Given the description of an element on the screen output the (x, y) to click on. 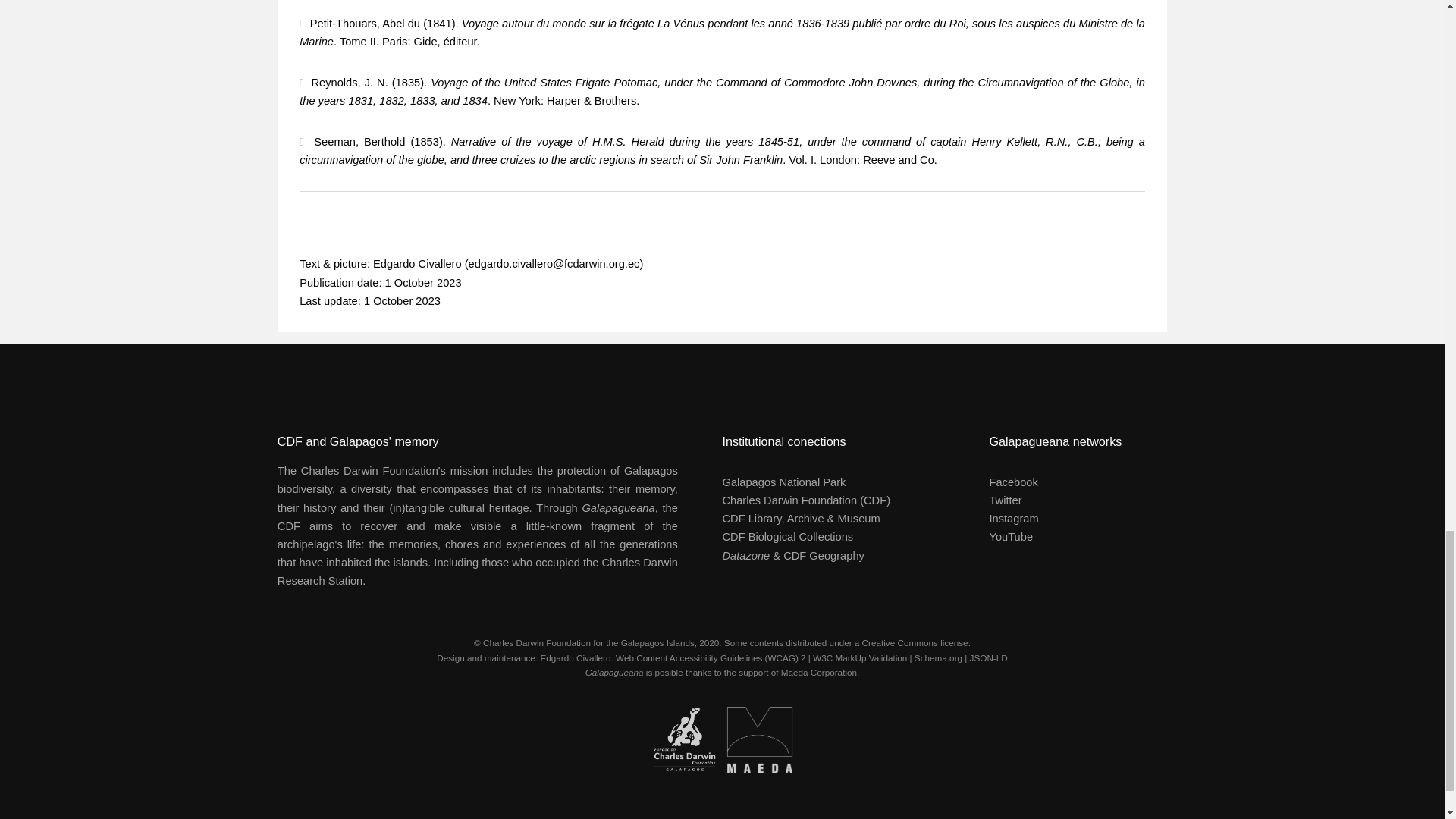
CDF Biological Collections (787, 536)
Facebook (1012, 481)
Galapagos National Park (783, 481)
Instagram (1013, 518)
YouTube (1010, 536)
Twitter (1005, 500)
